Given the description of an element on the screen output the (x, y) to click on. 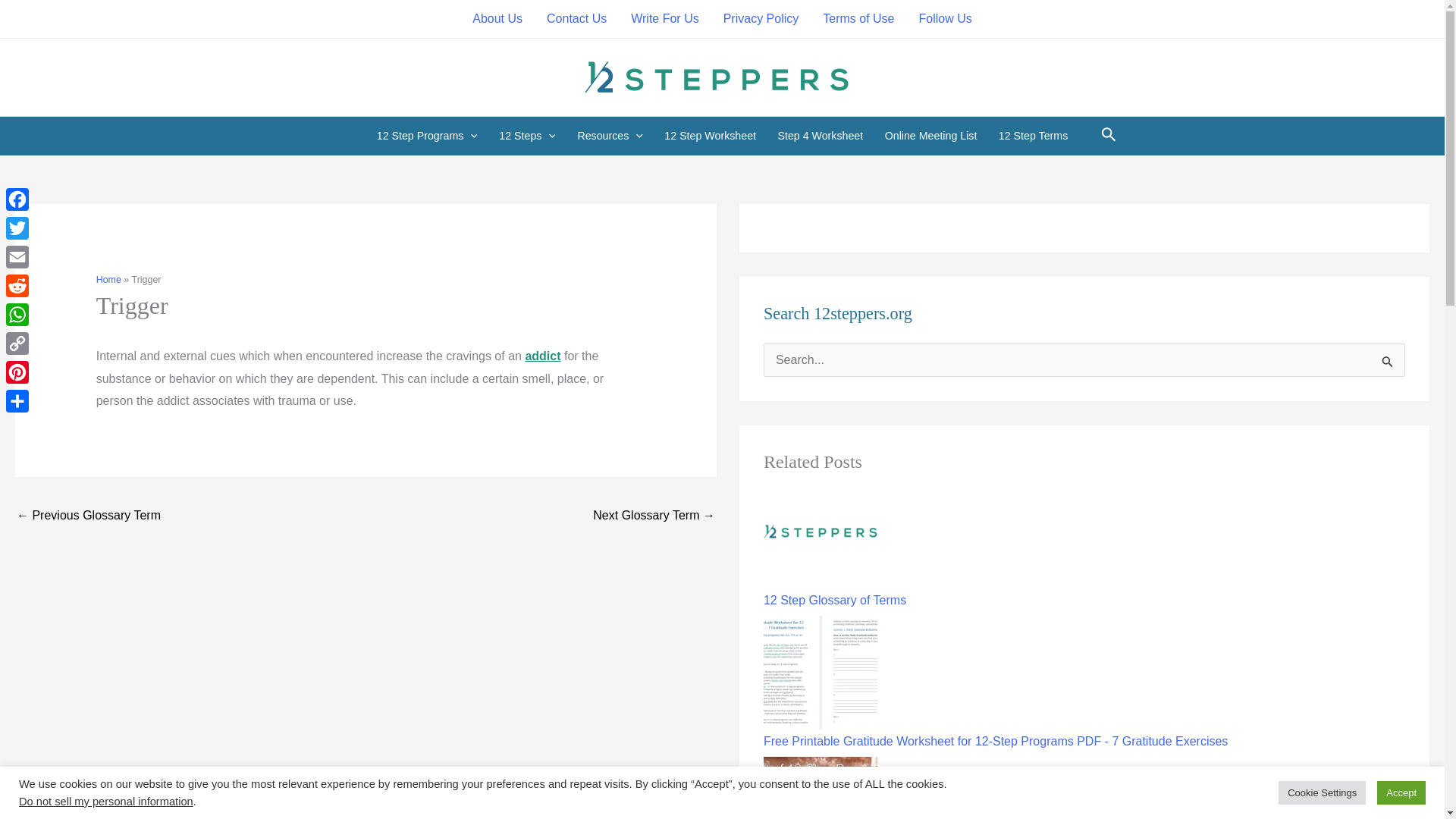
12 Step Glossary of Terms (819, 531)
Copy Link (17, 343)
12 Step Programs (427, 135)
Twitter (17, 227)
Contact Us (576, 18)
Privacy Policy (760, 18)
Treatment (88, 516)
Terms of Use (857, 18)
Write For Us (664, 18)
WhatsApp (17, 314)
Facebook (17, 199)
Pinterest (17, 371)
Email (17, 256)
Reddit (17, 285)
